Given the description of an element on the screen output the (x, y) to click on. 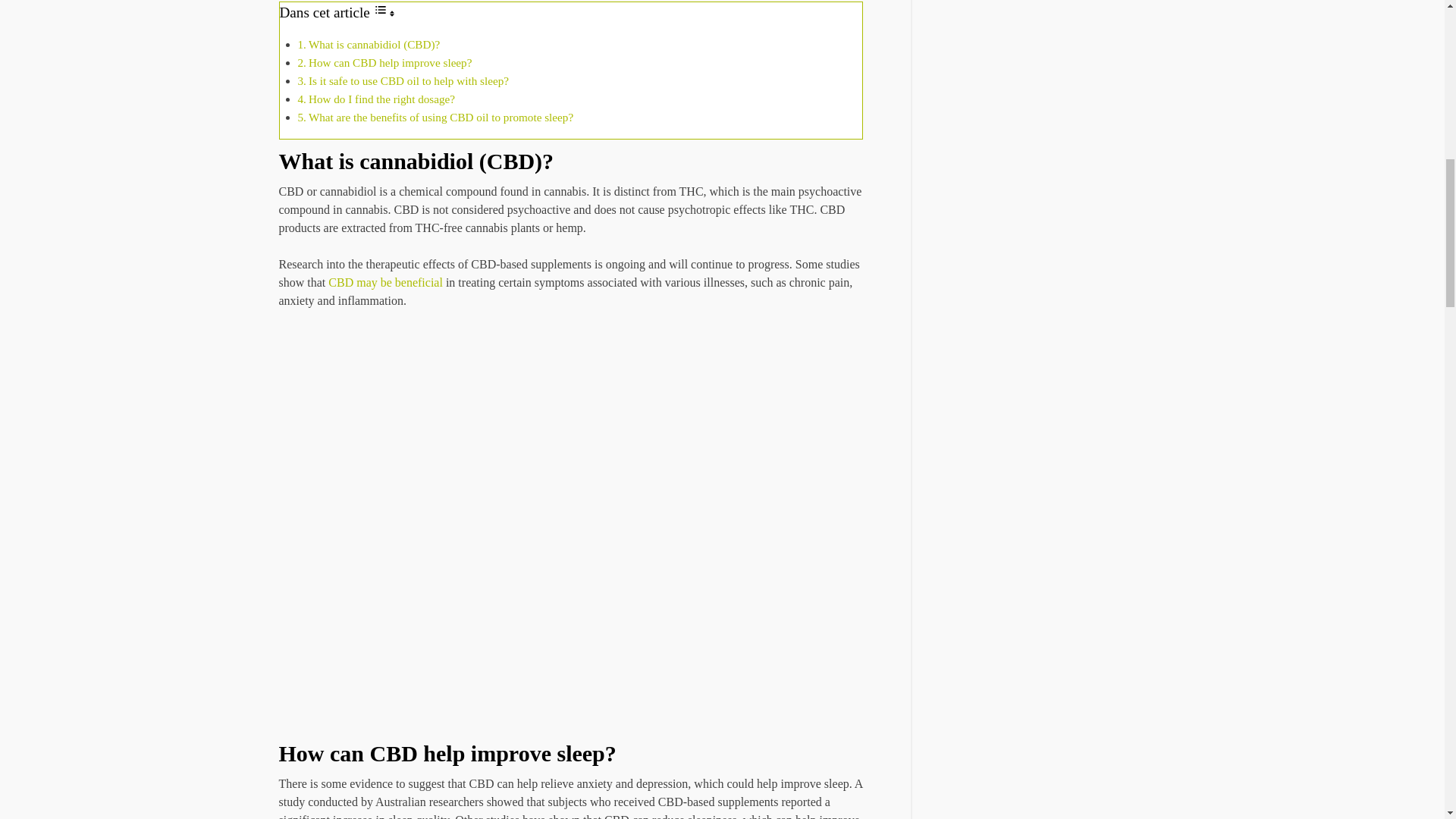
What are the benefits of using CBD oil to promote sleep? (440, 116)
How can CBD help improve sleep? (389, 62)
Is it safe to use CBD oil to help with sleep? (408, 80)
CBD may be beneficial (385, 282)
How do I find the right dosage? (381, 98)
How can CBD help improve sleep? (389, 62)
Is it safe to use CBD oil to help with sleep? (408, 80)
What are the benefits of using CBD oil to promote sleep? (440, 116)
How do I find the right dosage? (381, 98)
